Given the description of an element on the screen output the (x, y) to click on. 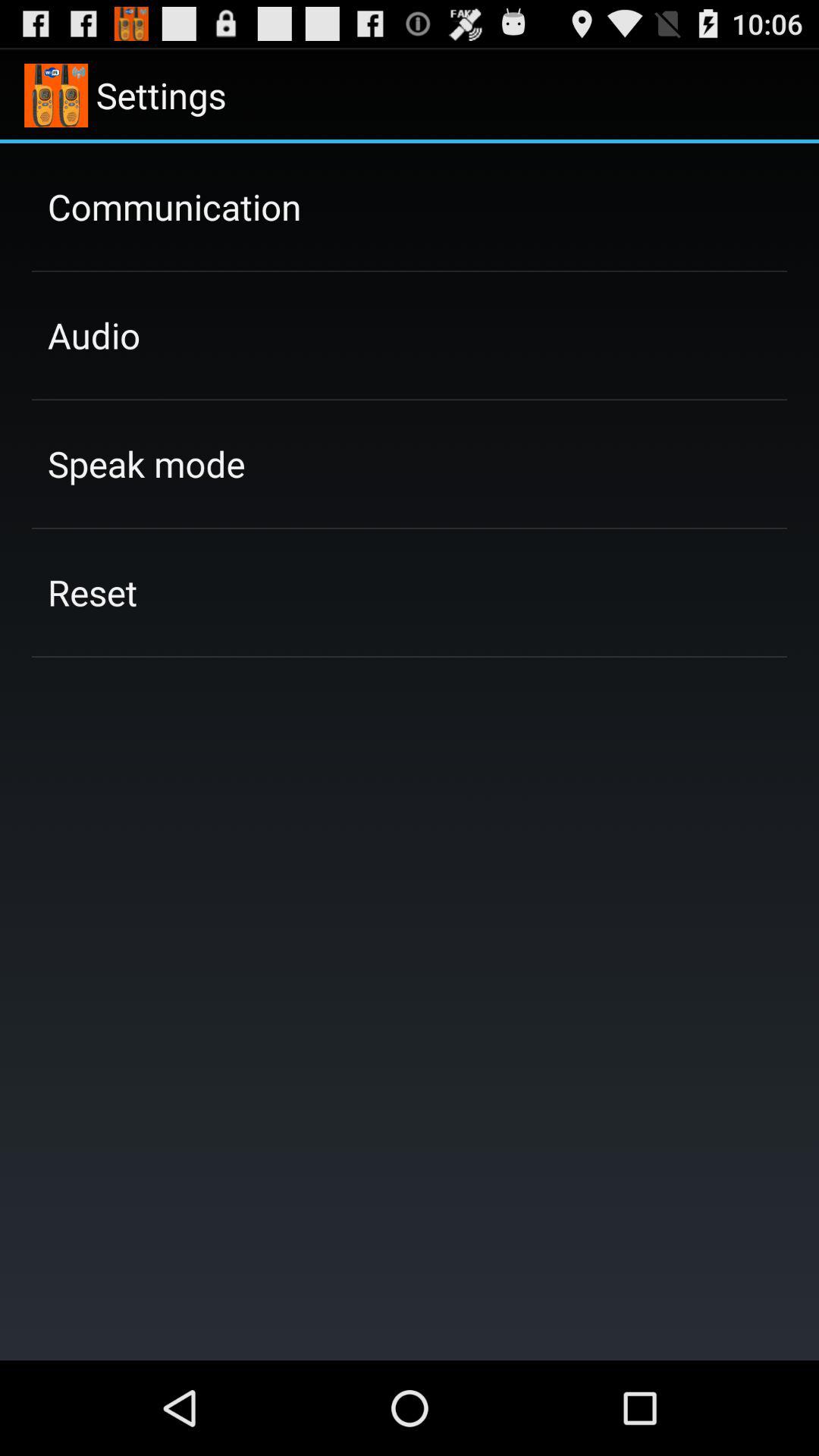
scroll until reset icon (92, 592)
